Given the description of an element on the screen output the (x, y) to click on. 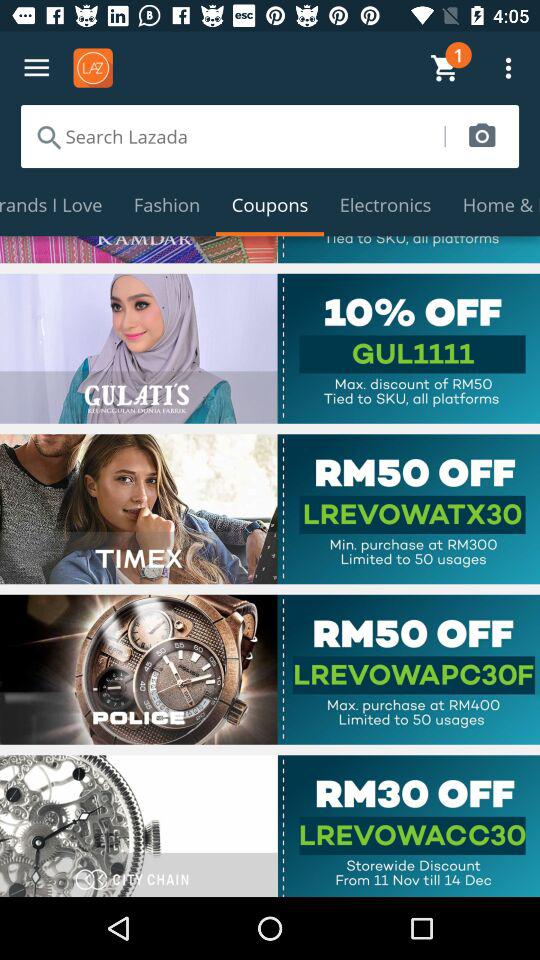
search lazada (232, 136)
